Given the description of an element on the screen output the (x, y) to click on. 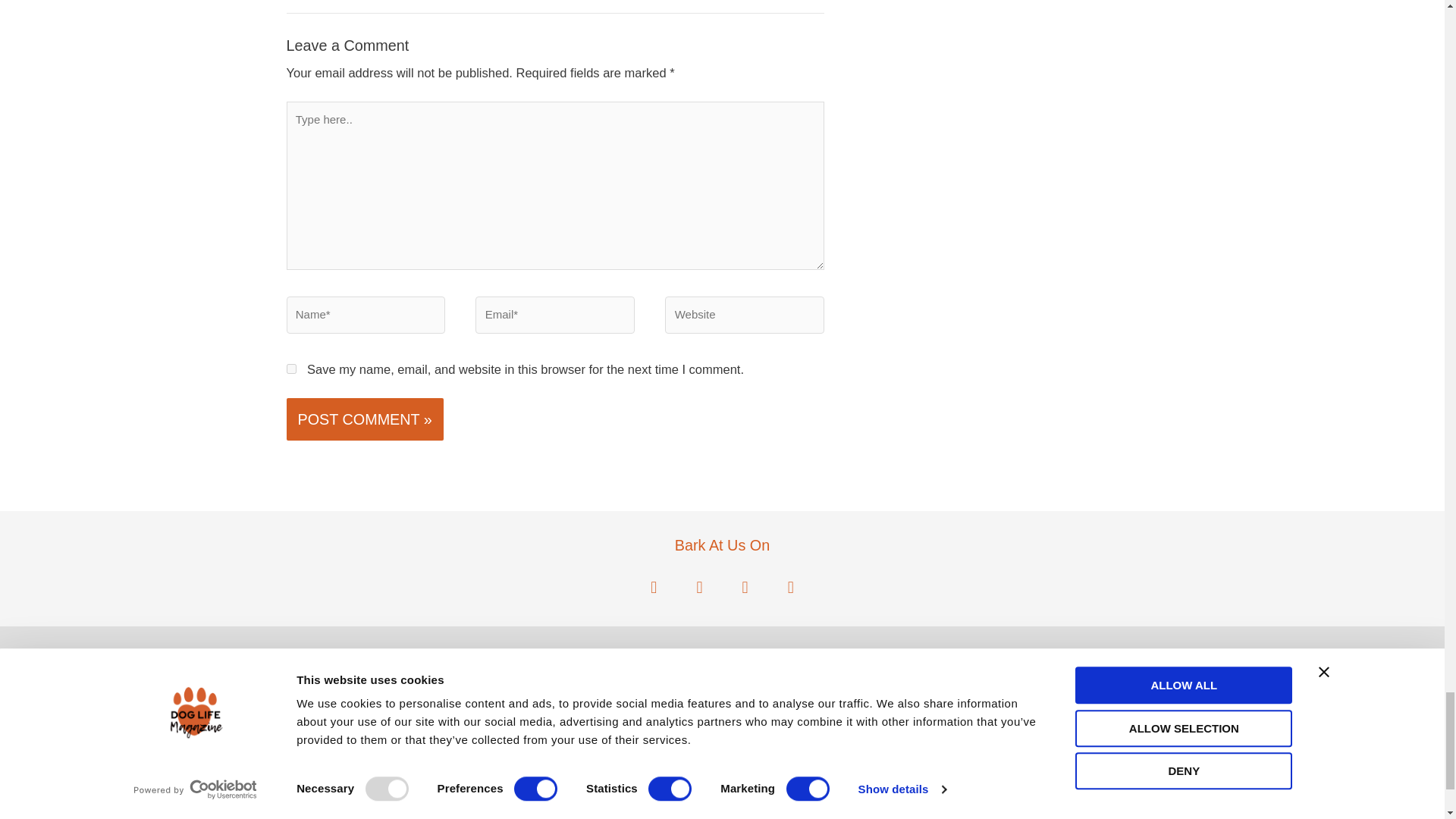
yes (291, 368)
